Given the description of an element on the screen output the (x, y) to click on. 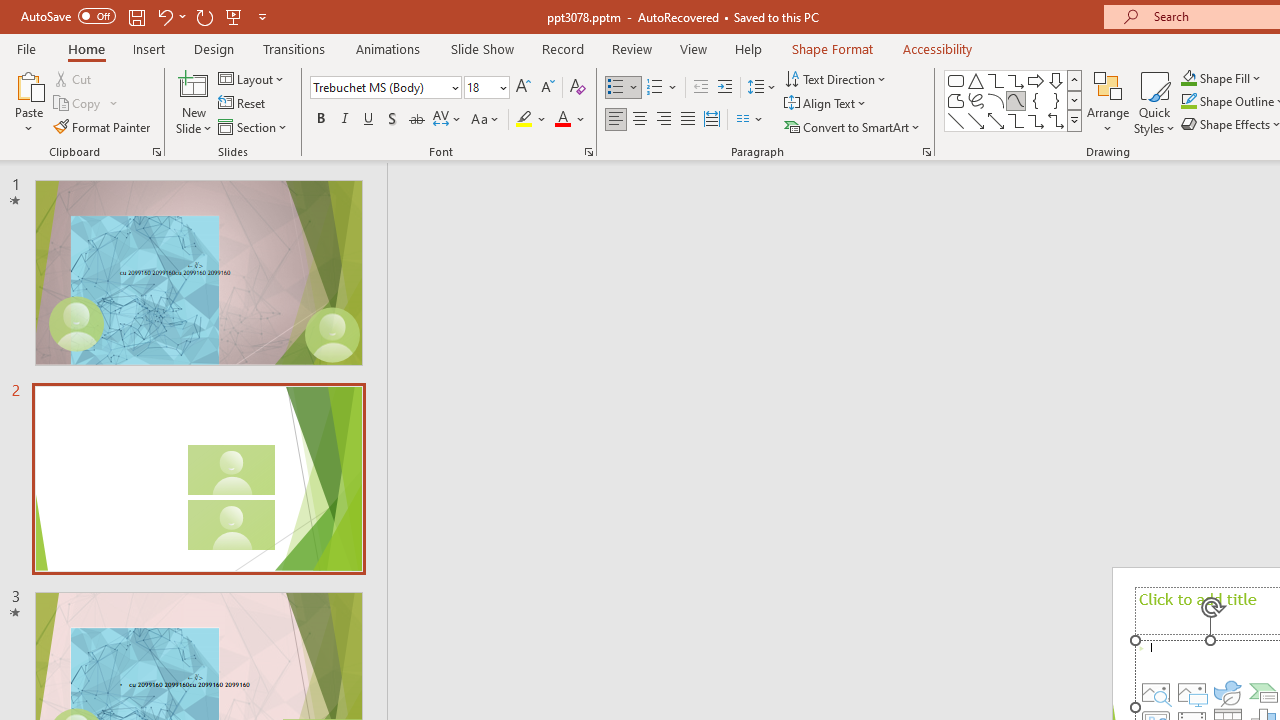
Shape Fill Dark Green, Accent 2 (1188, 78)
Shape Outline Green, Accent 1 (1188, 101)
